Given the description of an element on the screen output the (x, y) to click on. 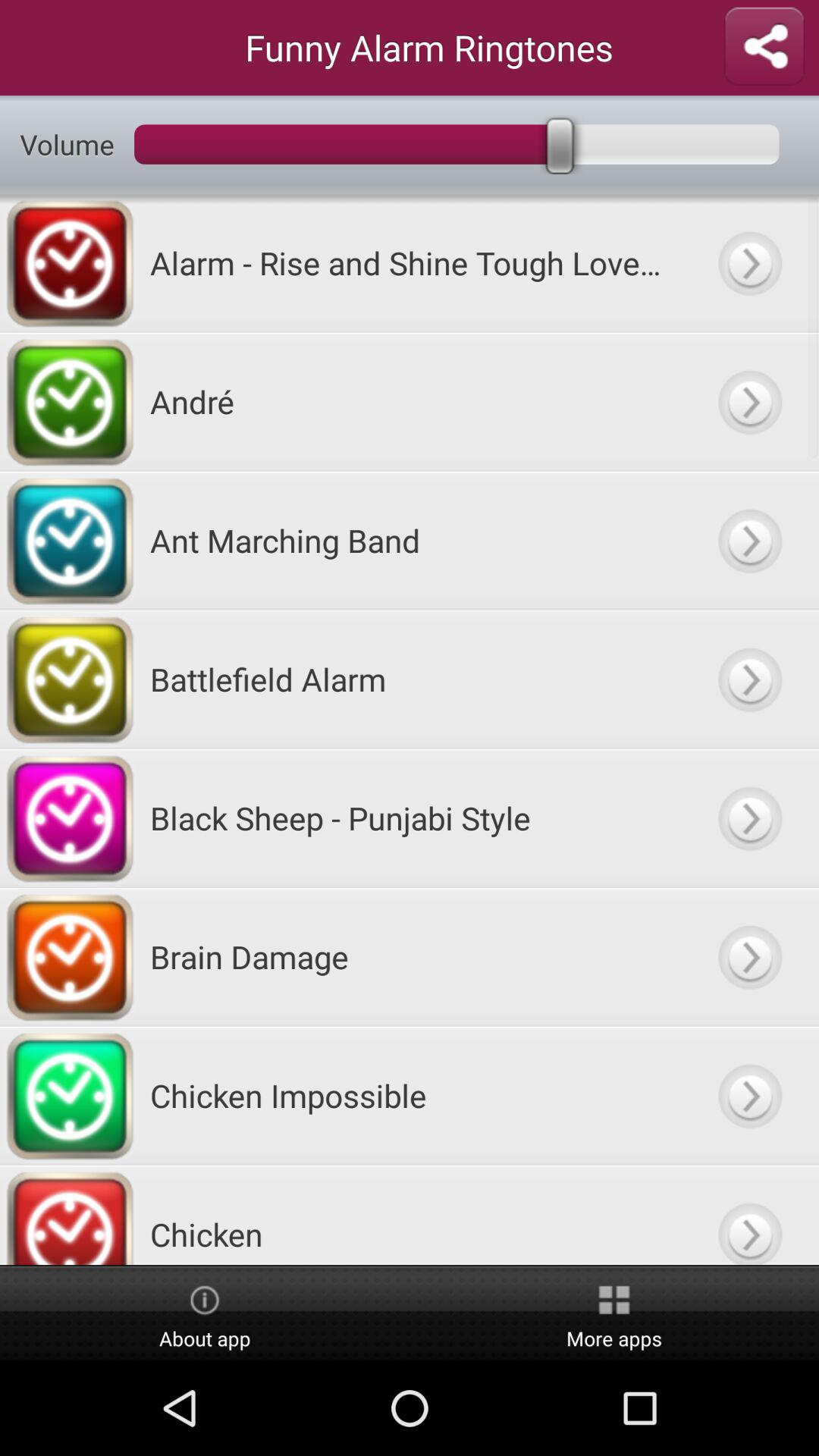
select alarm (749, 679)
